Given the description of an element on the screen output the (x, y) to click on. 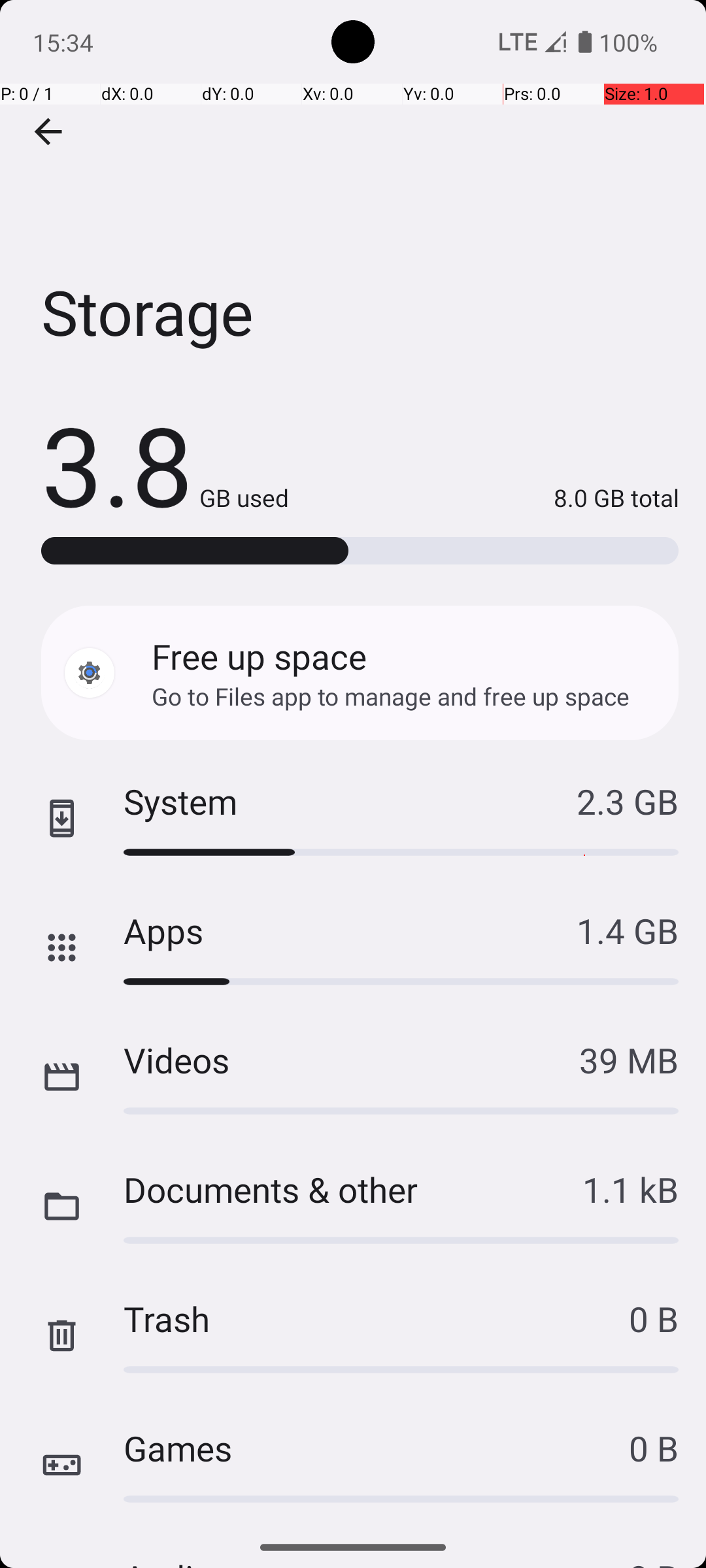
3.8 GB used Element type: android.widget.TextView (164, 463)
1.4 GB Element type: android.widget.TextView (627, 930)
39 MB Element type: android.widget.TextView (628, 1059)
1.1 kB Element type: android.widget.TextView (630, 1189)
